Given the description of an element on the screen output the (x, y) to click on. 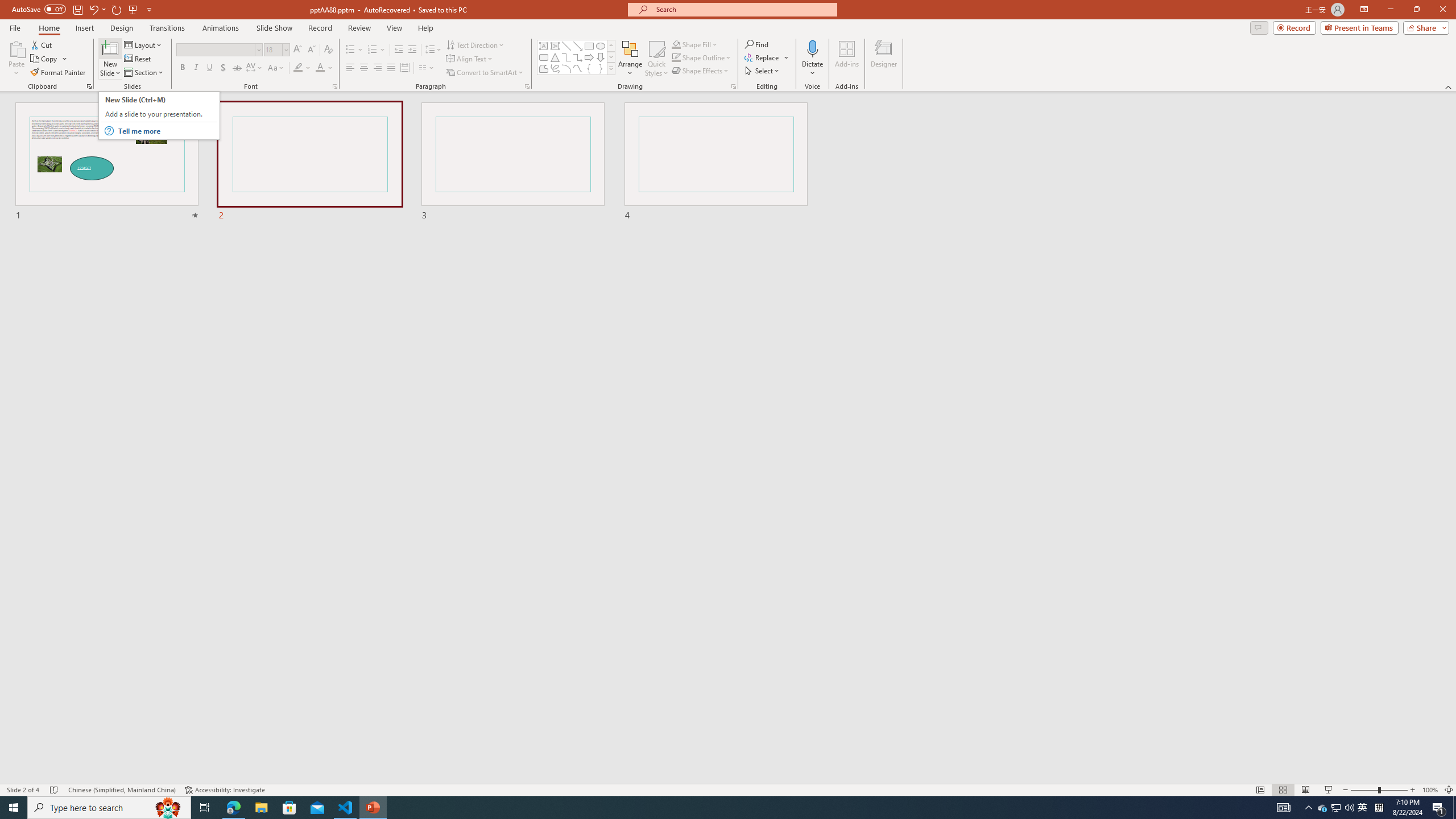
Font Size (273, 49)
Shapes (611, 68)
New Slide (110, 58)
Zoom to Fit  (1449, 790)
Tell me more (166, 130)
Row Down (611, 56)
Freeform: Shape (543, 68)
Shape Effects (700, 69)
Normal (1260, 790)
Curve (577, 68)
Share (1423, 27)
Connector: Elbow (566, 57)
Review (359, 28)
Bullets (349, 49)
Present in Teams (1359, 27)
